Given the description of an element on the screen output the (x, y) to click on. 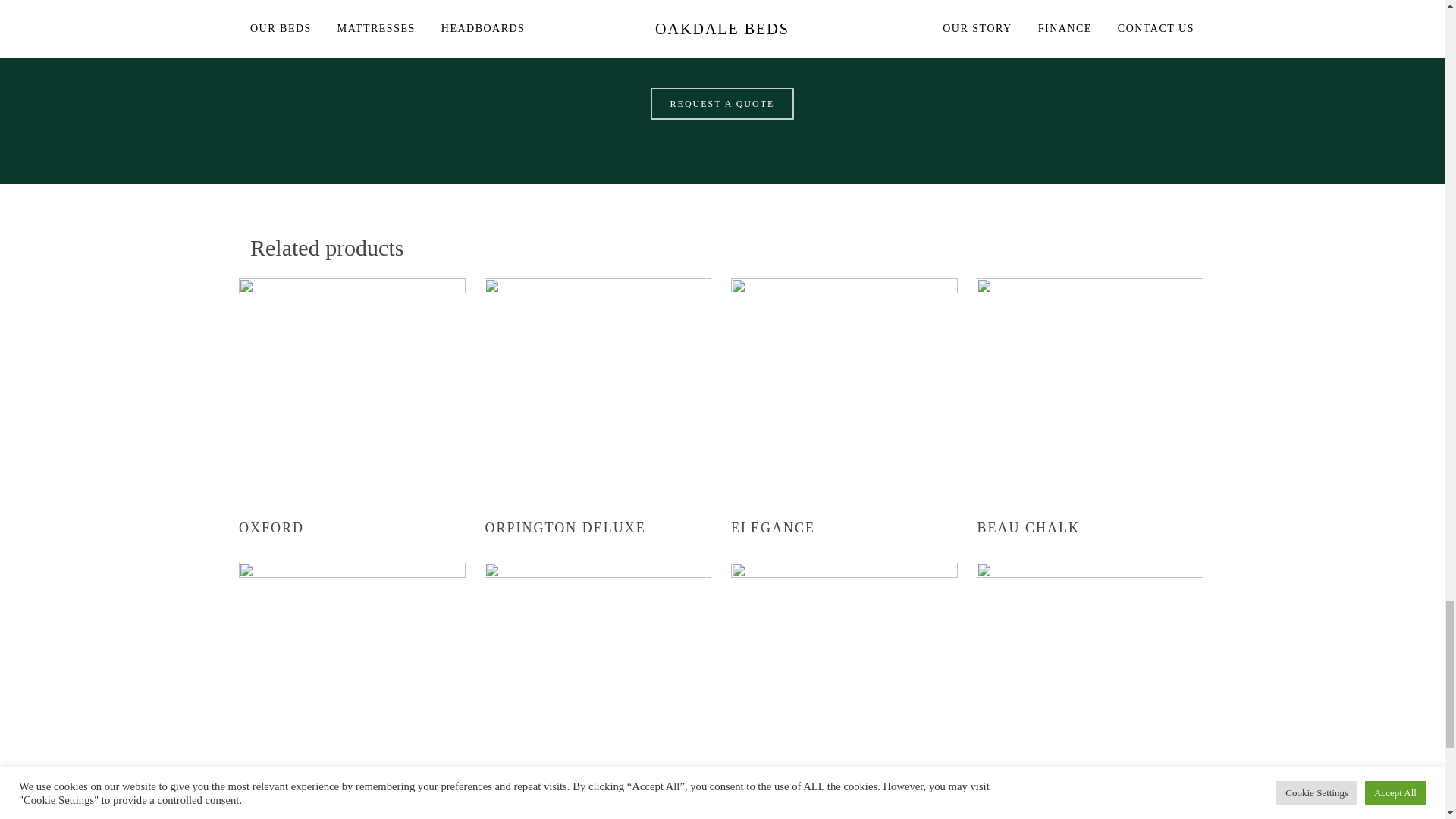
REQUEST A QUOTE (722, 103)
